Given the description of an element on the screen output the (x, y) to click on. 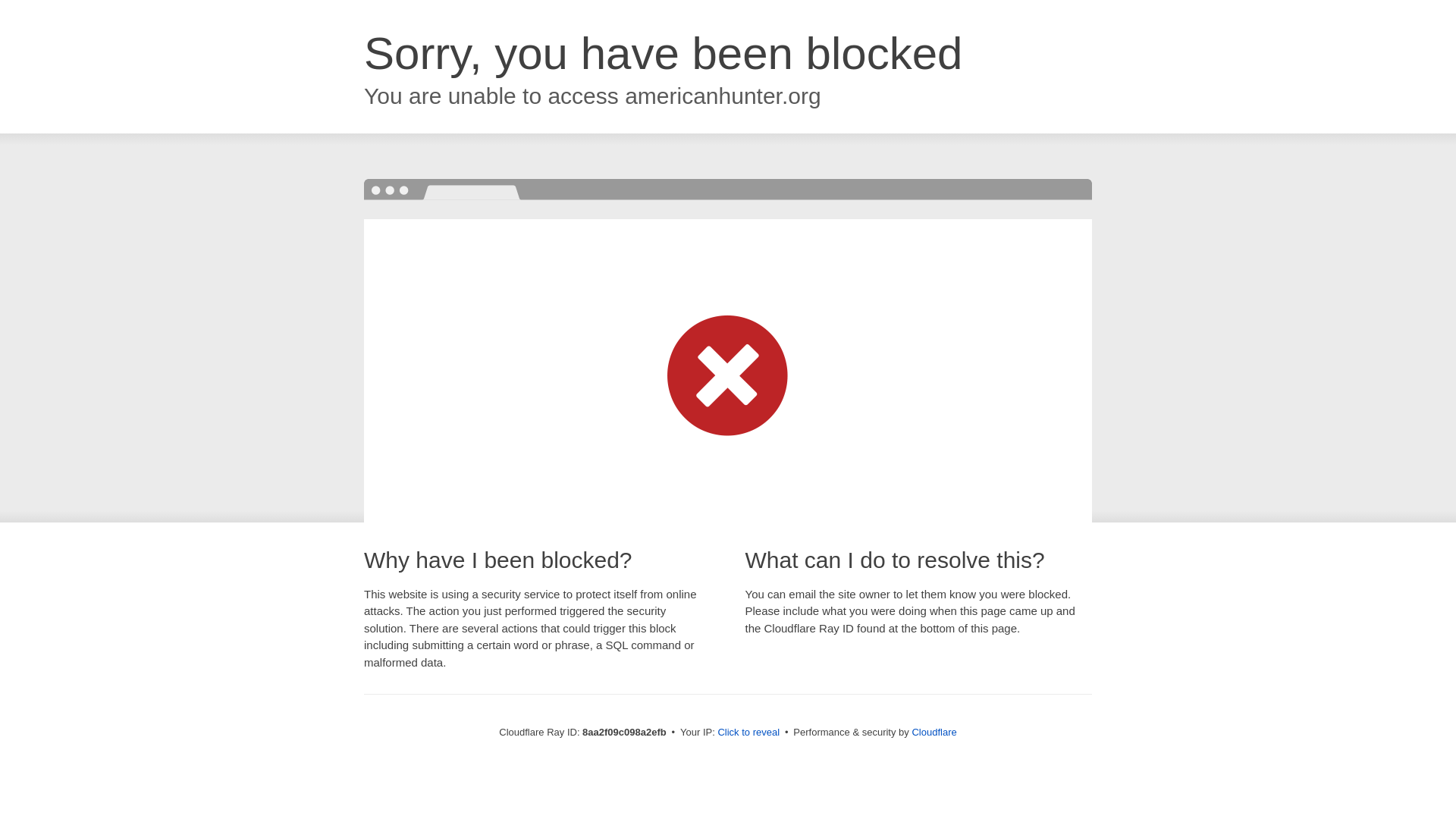
Cloudflare (933, 731)
Click to reveal (747, 732)
